Given the description of an element on the screen output the (x, y) to click on. 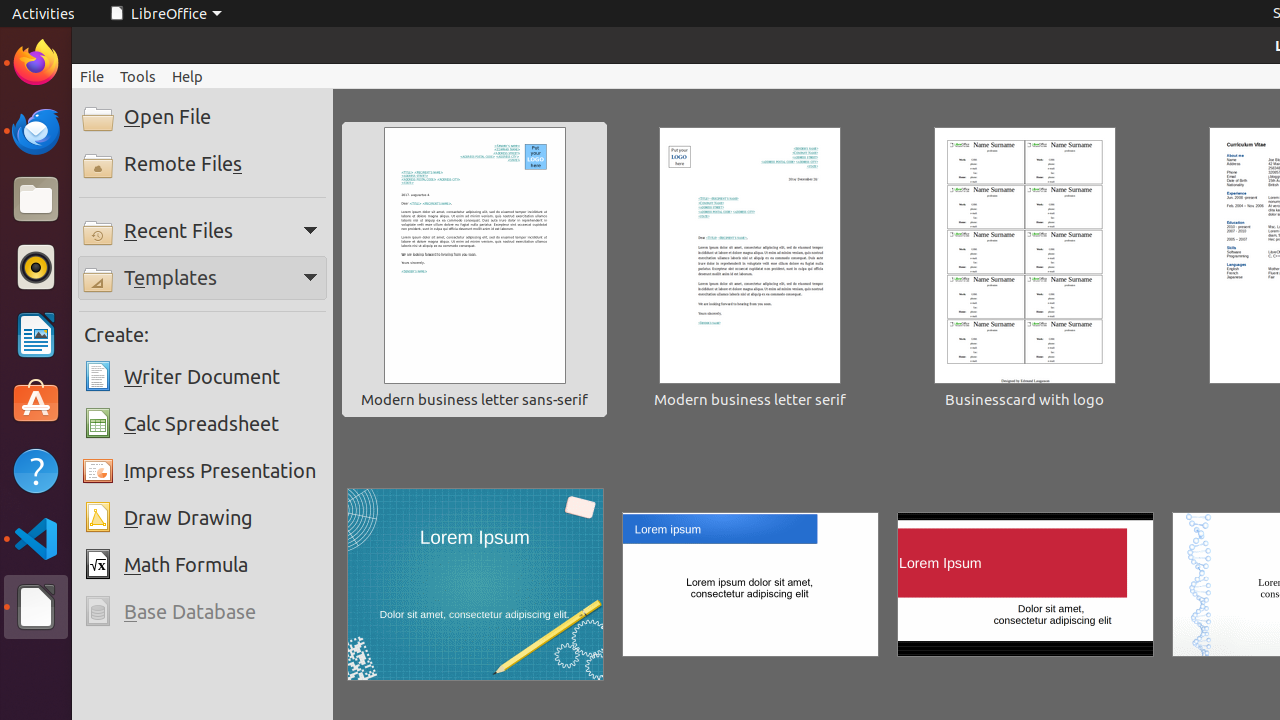
Math Formula Element type: push-button (202, 565)
Templates Element type: push-button (202, 278)
